Given the description of an element on the screen output the (x, y) to click on. 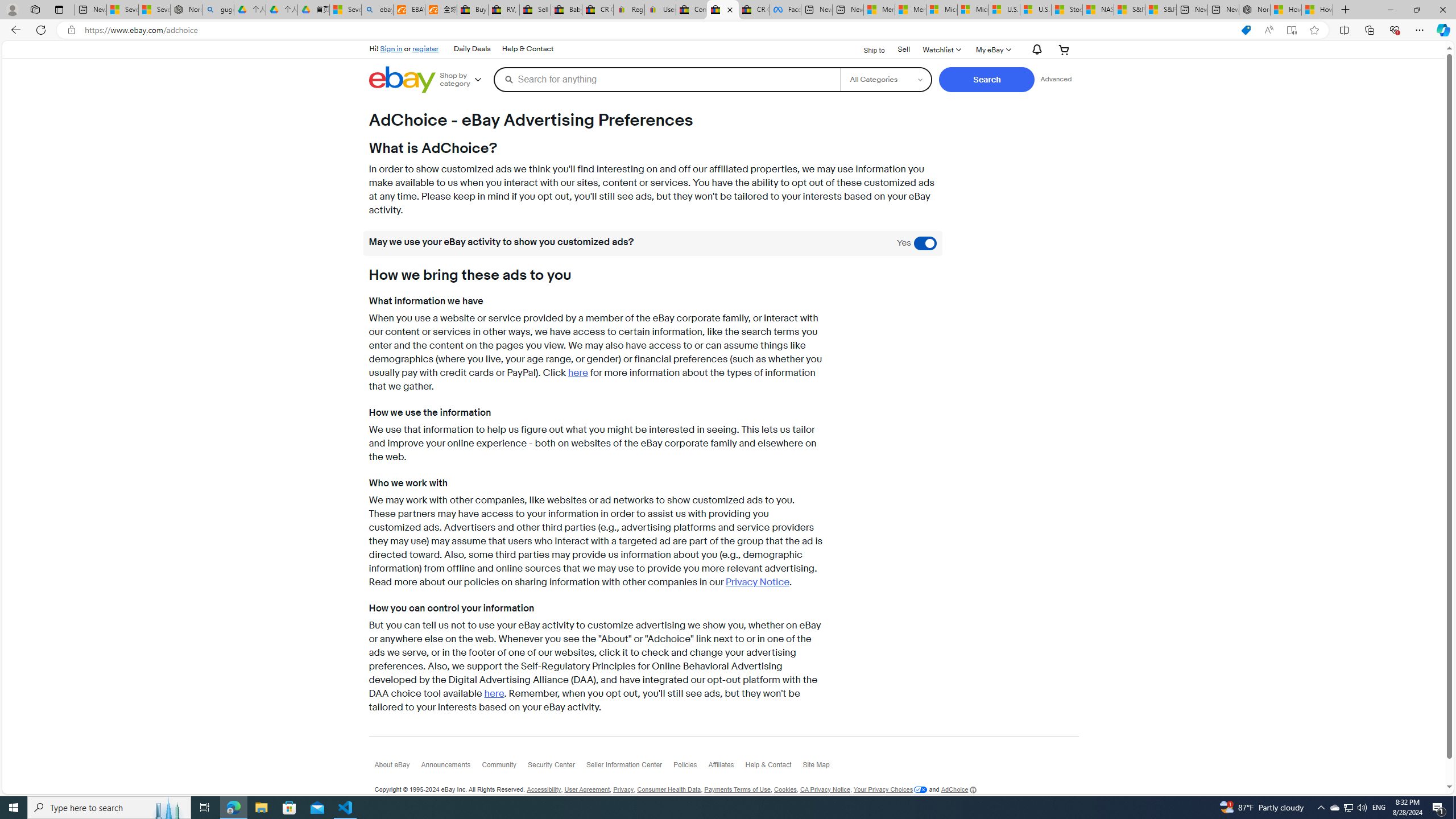
Community (504, 767)
Announcements (450, 767)
Daily Deals (471, 49)
Consumer Health Data (669, 789)
Payments Terms of Use (737, 789)
Sell (903, 49)
Select a category for search (885, 78)
